Given the description of an element on the screen output the (x, y) to click on. 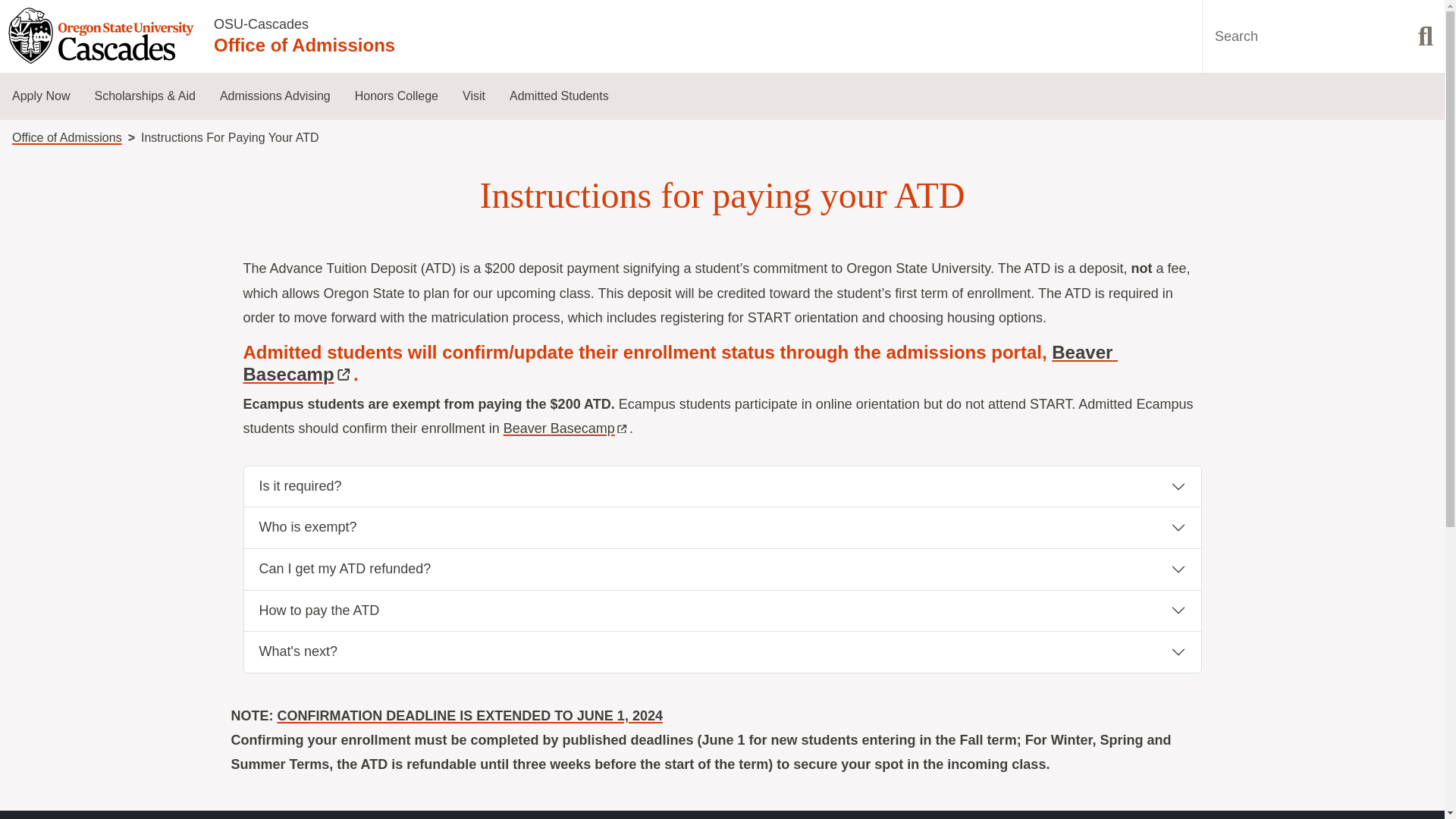
Honors College (395, 96)
Link is external (343, 374)
May 1 Advanced Tuition Deadline Extended to June 1 (470, 715)
Admissions Advising (275, 96)
Postbaccalaureate Students (81, 370)
OSU-Cascades (261, 23)
Office of Admissions (66, 137)
How to pay the ATD (722, 610)
Admitted Students (559, 96)
Link is external (621, 424)
